Given the description of an element on the screen output the (x, y) to click on. 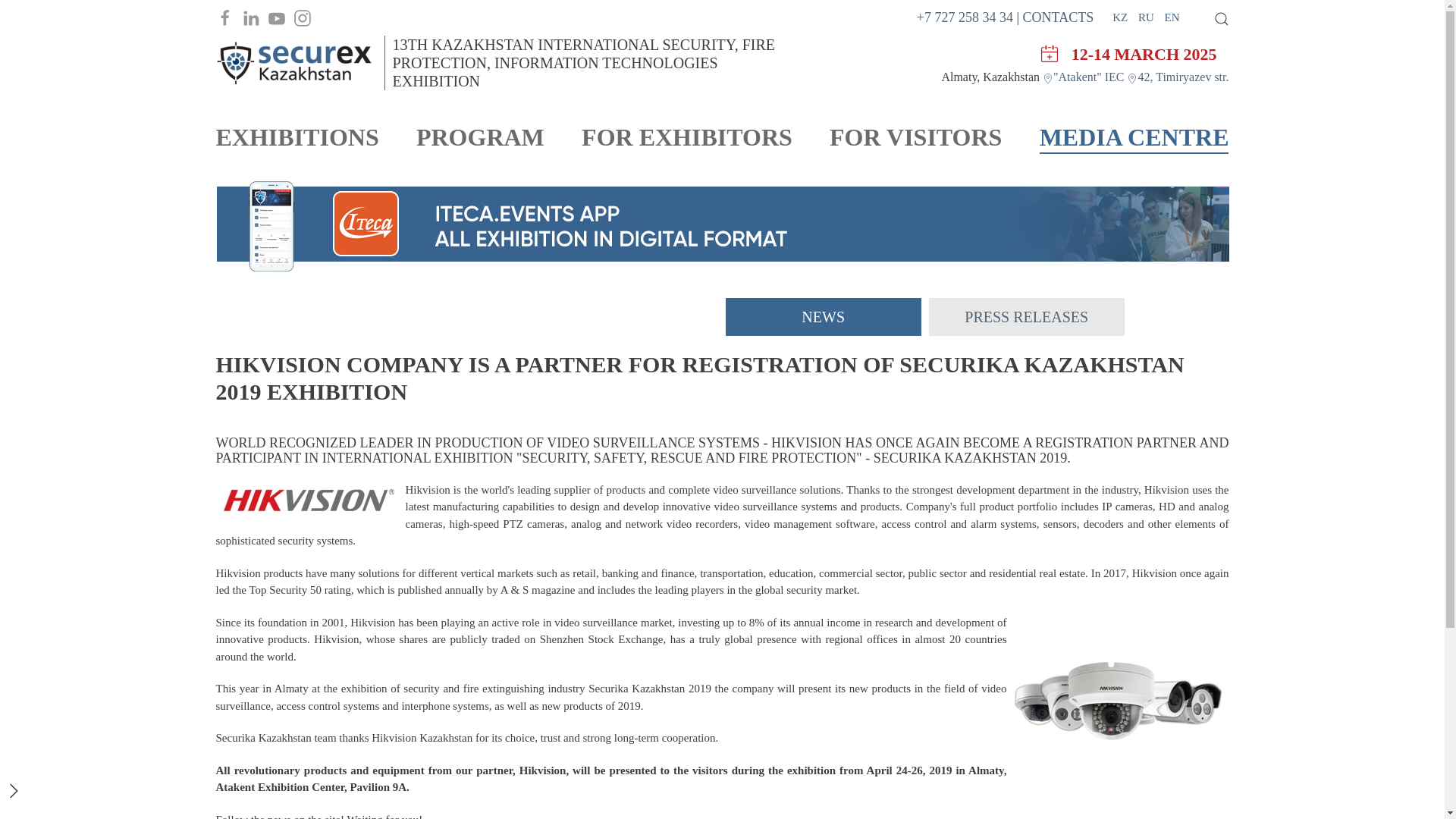
RU (1147, 17)
KZ (1121, 17)
CONTACTS (1058, 17)
EN (1171, 17)
"Atakent" IEC (1084, 76)
42, Timiryazev str. (1177, 76)
EXHIBITIONS (296, 137)
